Given the description of an element on the screen output the (x, y) to click on. 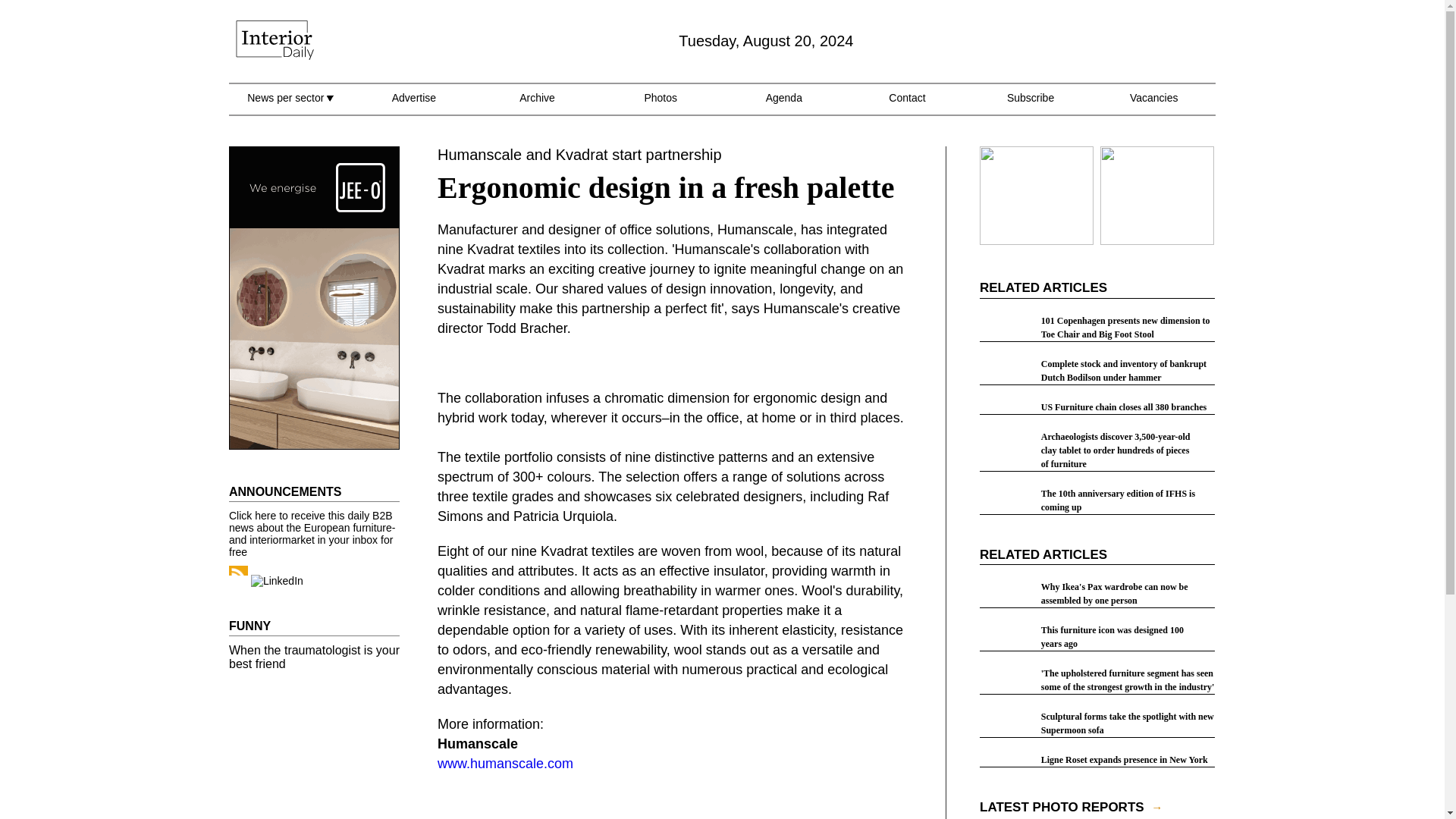
When the traumatologist is your best friend (313, 656)
Contact (906, 106)
Subscribe (1030, 106)
Photos (660, 106)
News per sector (290, 106)
Advertise (413, 106)
www.humanscale.com (505, 763)
Vacancies (1153, 106)
Agenda (783, 106)
